Given the description of an element on the screen output the (x, y) to click on. 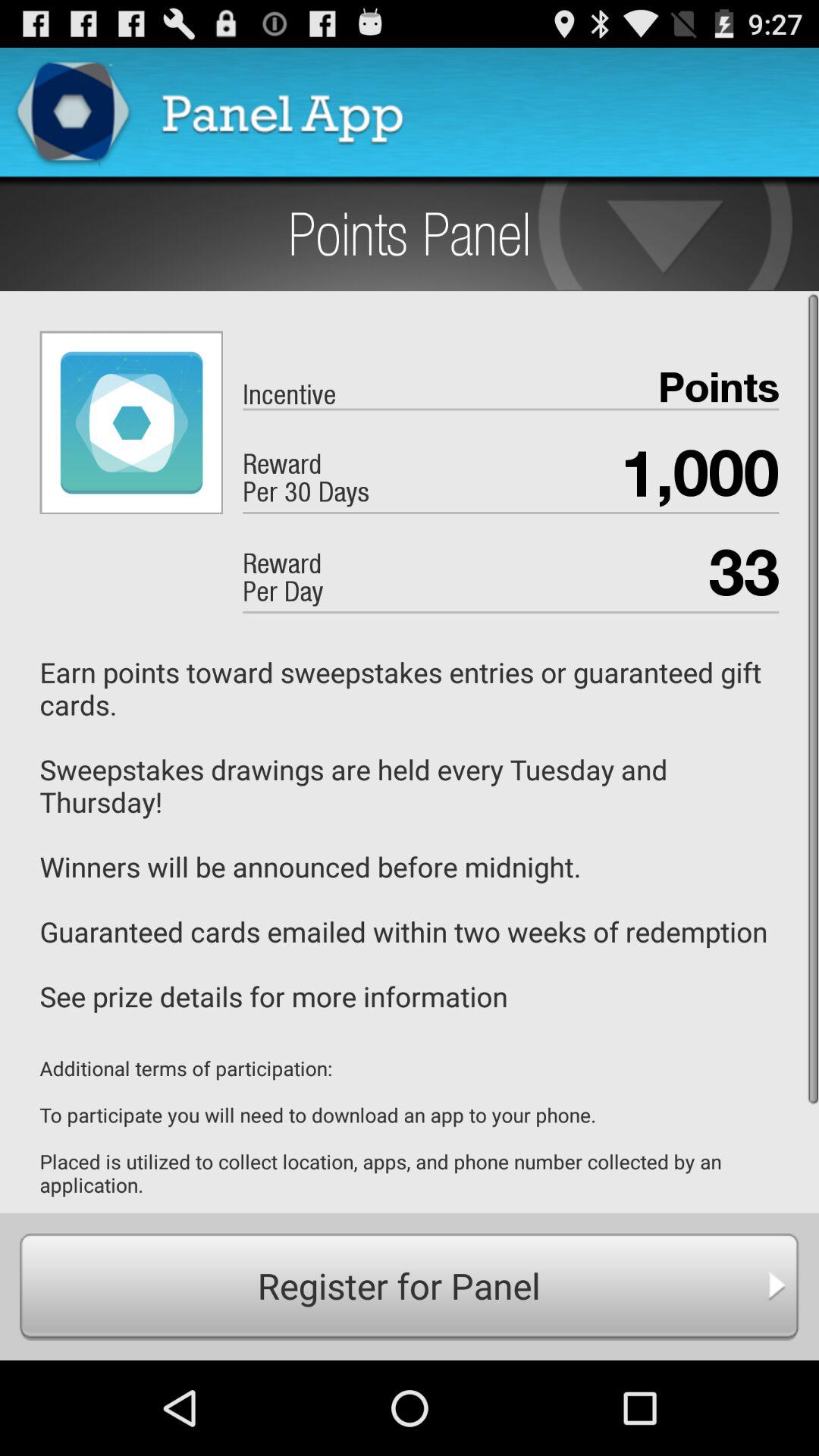
select the register for panel (409, 1286)
